Given the description of an element on the screen output the (x, y) to click on. 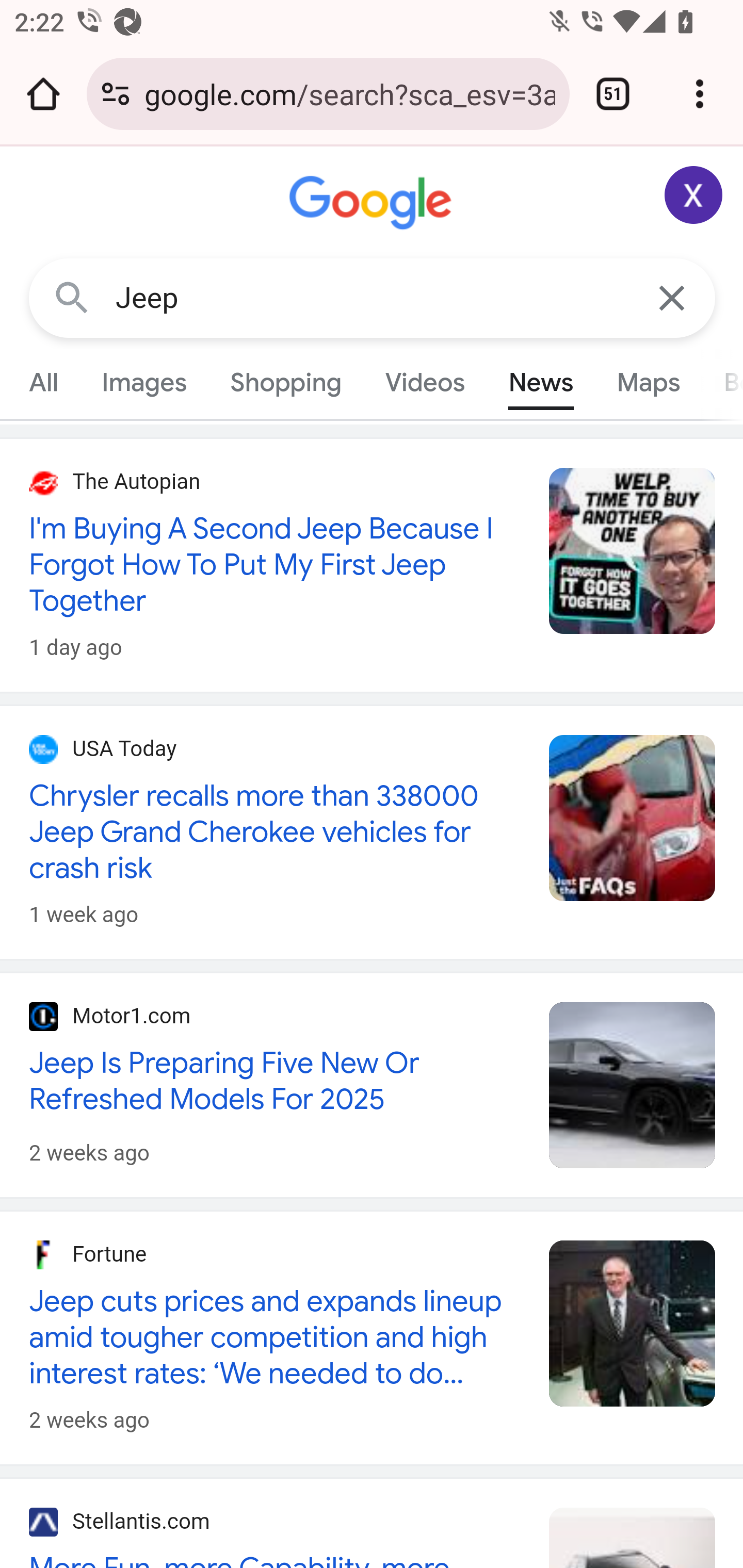
Open the home page (43, 93)
Connection is secure (115, 93)
Switch or close tabs (612, 93)
Customize and control Google Chrome (699, 93)
Google (372, 203)
Google Account: Xiaoran (zxrappiumtest@gmail.com) (694, 195)
Google Search (71, 296)
Clear Search (672, 296)
Jeep (372, 297)
All (43, 382)
Images (144, 382)
Shopping (285, 382)
Videos (424, 382)
Maps (647, 382)
